Given the description of an element on the screen output the (x, y) to click on. 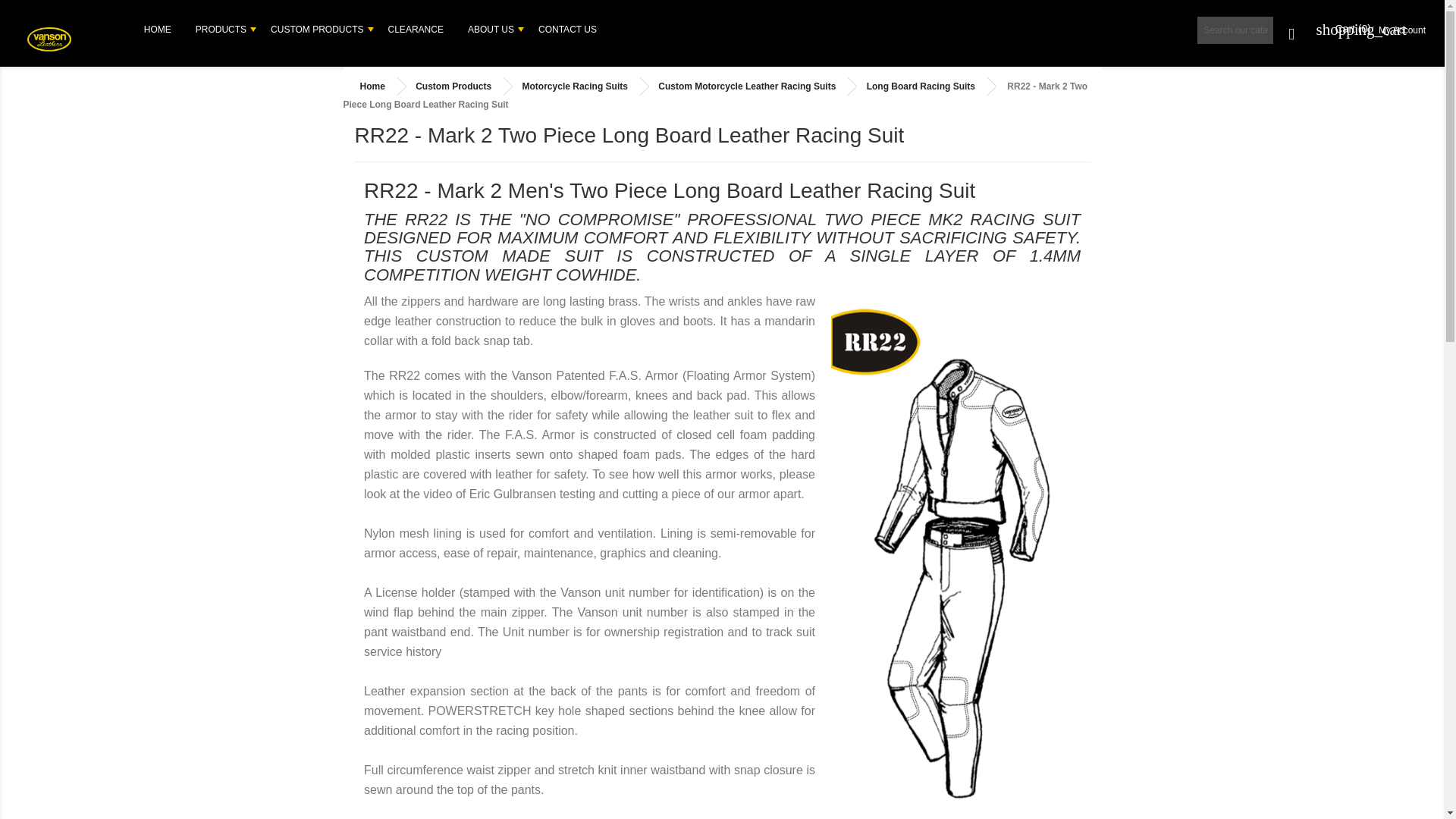
HOME (157, 29)
PRODUCTS (221, 29)
Home (157, 29)
Products (221, 29)
